Given the description of an element on the screen output the (x, y) to click on. 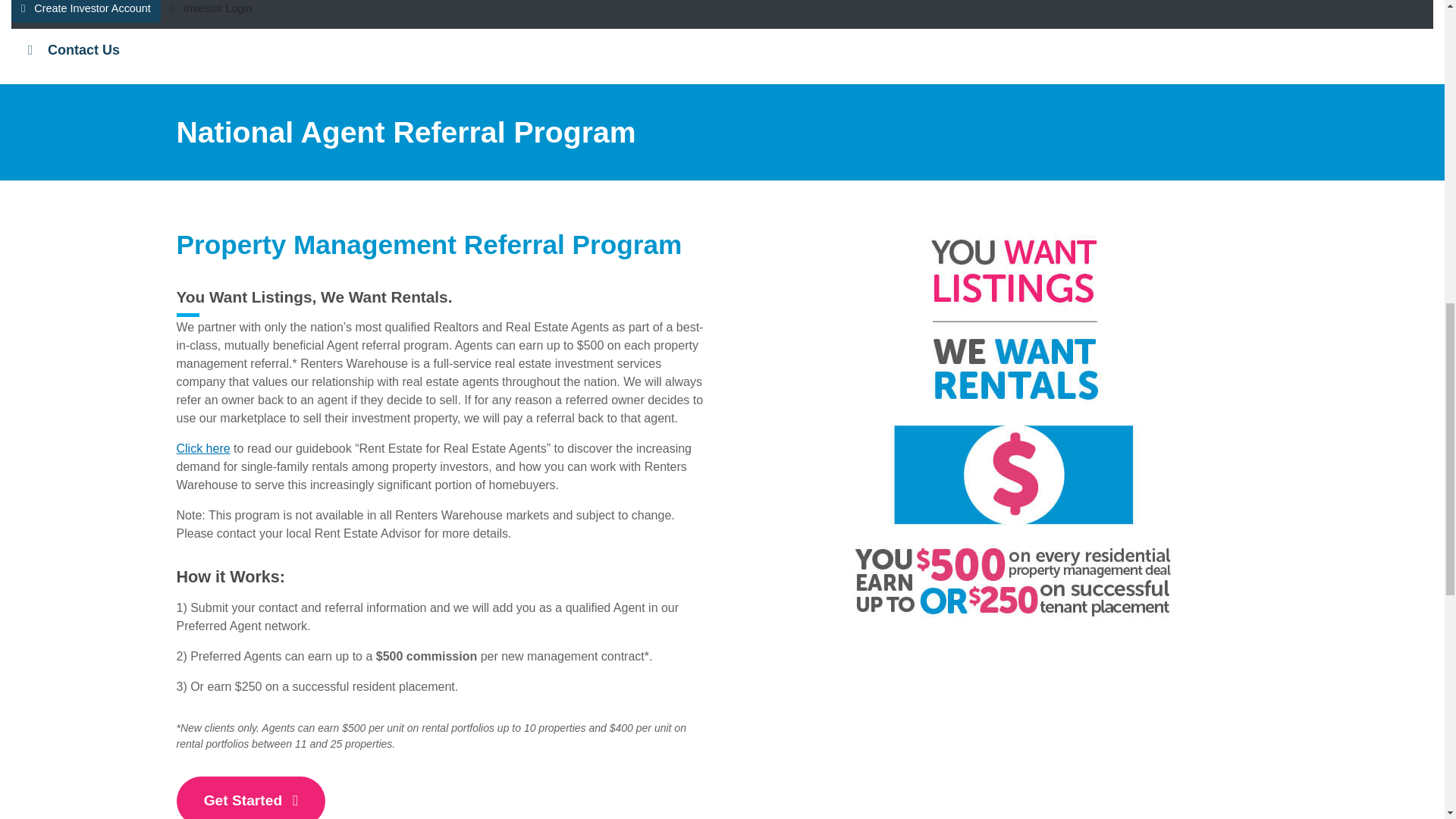
Rent Estate White Paper (203, 448)
Log In (211, 14)
Create Account (85, 11)
Contact Us (721, 50)
Investor Login (211, 14)
Create Investor Account (85, 11)
